Given the description of an element on the screen output the (x, y) to click on. 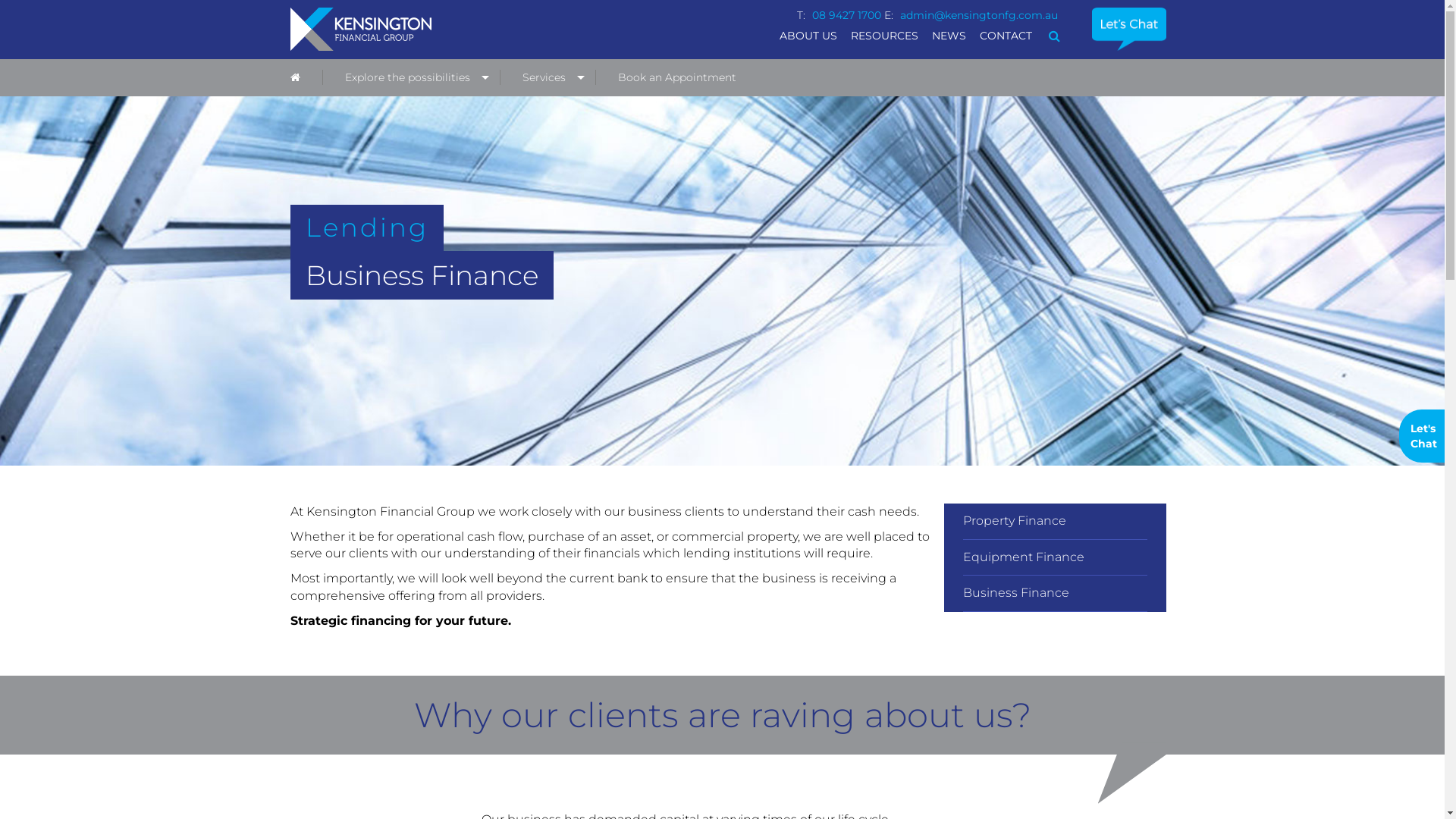
CONTACT Element type: text (1005, 35)
Business Finance Element type: text (1055, 593)
RESOURCES Element type: text (884, 35)
Explore the possibilities Element type: text (410, 77)
Property Finance Element type: text (1055, 521)
Equipment Finance Element type: text (1055, 557)
admin@kensingtonfg.com.au Element type: text (978, 14)
Book an Appointment Element type: text (676, 77)
NEWS Element type: text (948, 35)
Let's Chat Element type: text (1421, 435)
ABOUT US Element type: text (808, 35)
Services Element type: text (546, 77)
08 9427 1700 Element type: text (846, 14)
